Given the description of an element on the screen output the (x, y) to click on. 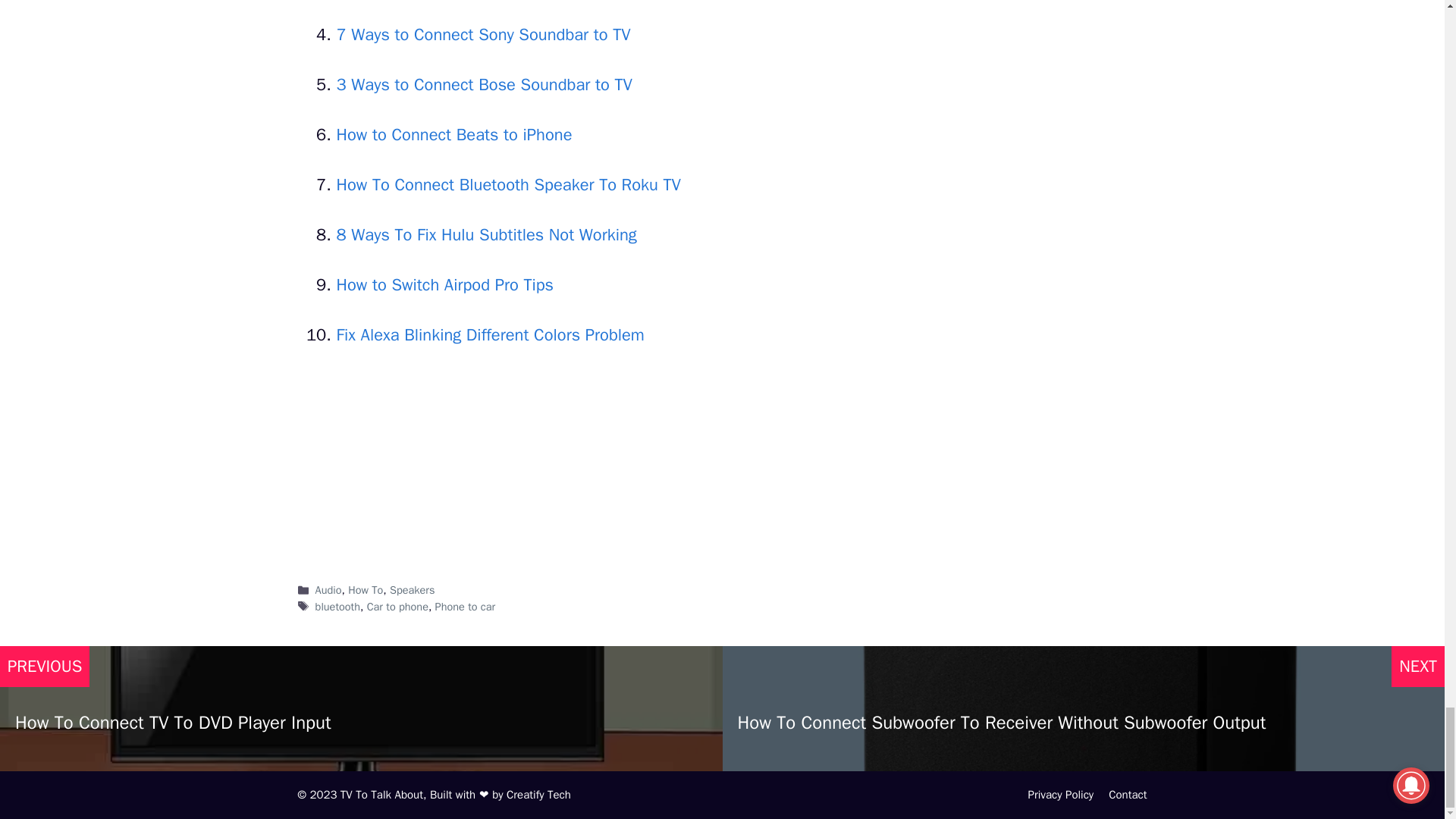
Speakers (411, 590)
Fix Alexa Blinking Different Colors Problem (490, 334)
Audio (328, 590)
How To Connect Bluetooth Speaker To Roku TV (508, 184)
Fix Alexa Blinking Different Colors Problem (490, 334)
3 Ways to Connect Bose Soundbar to TV (483, 84)
How To (364, 590)
7 Ways to Connect Sony Soundbar to TV (483, 34)
8 Ways To Fix Hulu Subtitles Not Working (486, 234)
